Given the description of an element on the screen output the (x, y) to click on. 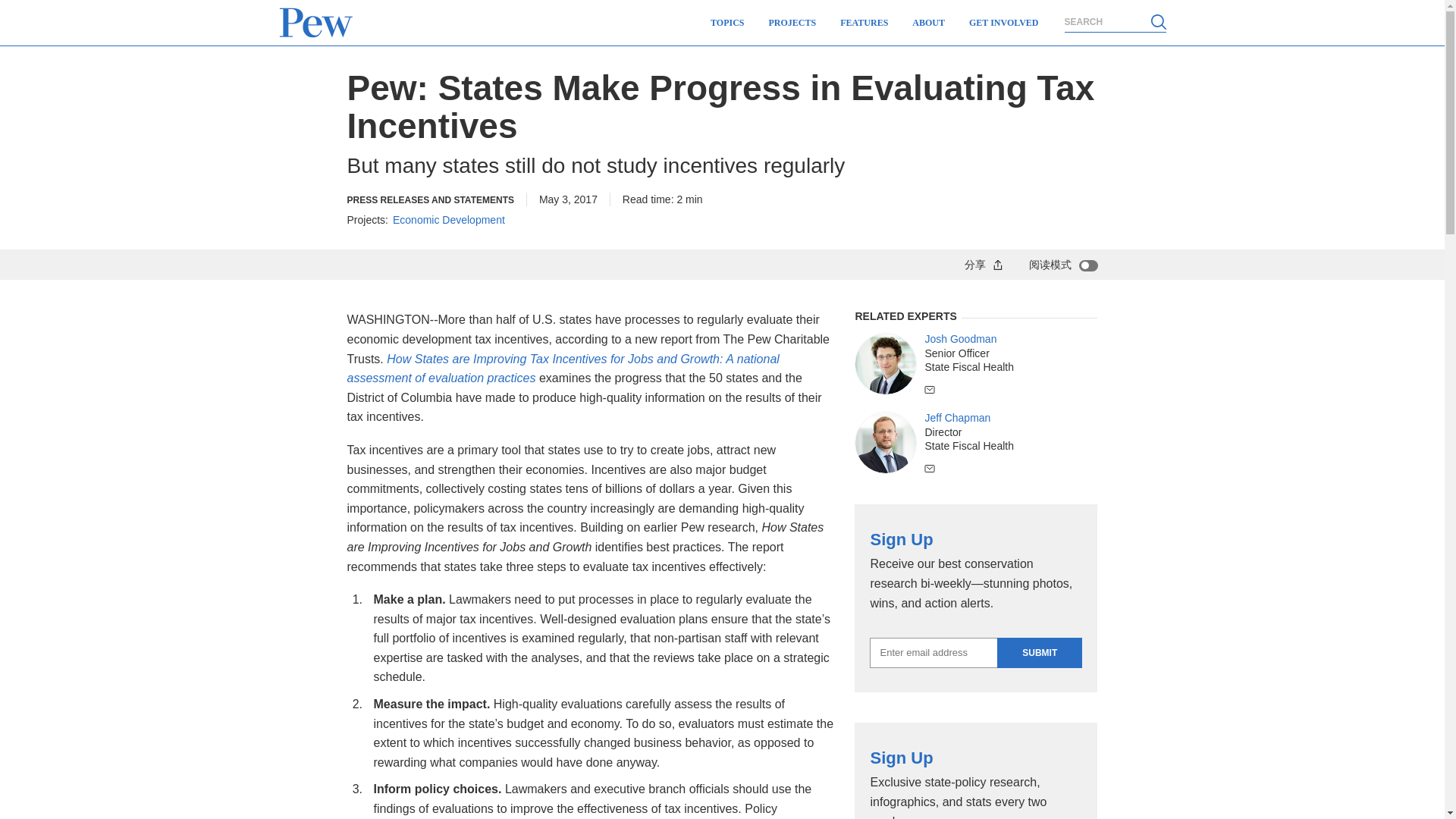
PROJECTS (792, 22)
Submit (1039, 653)
TOPICS (726, 22)
